Given the description of an element on the screen output the (x, y) to click on. 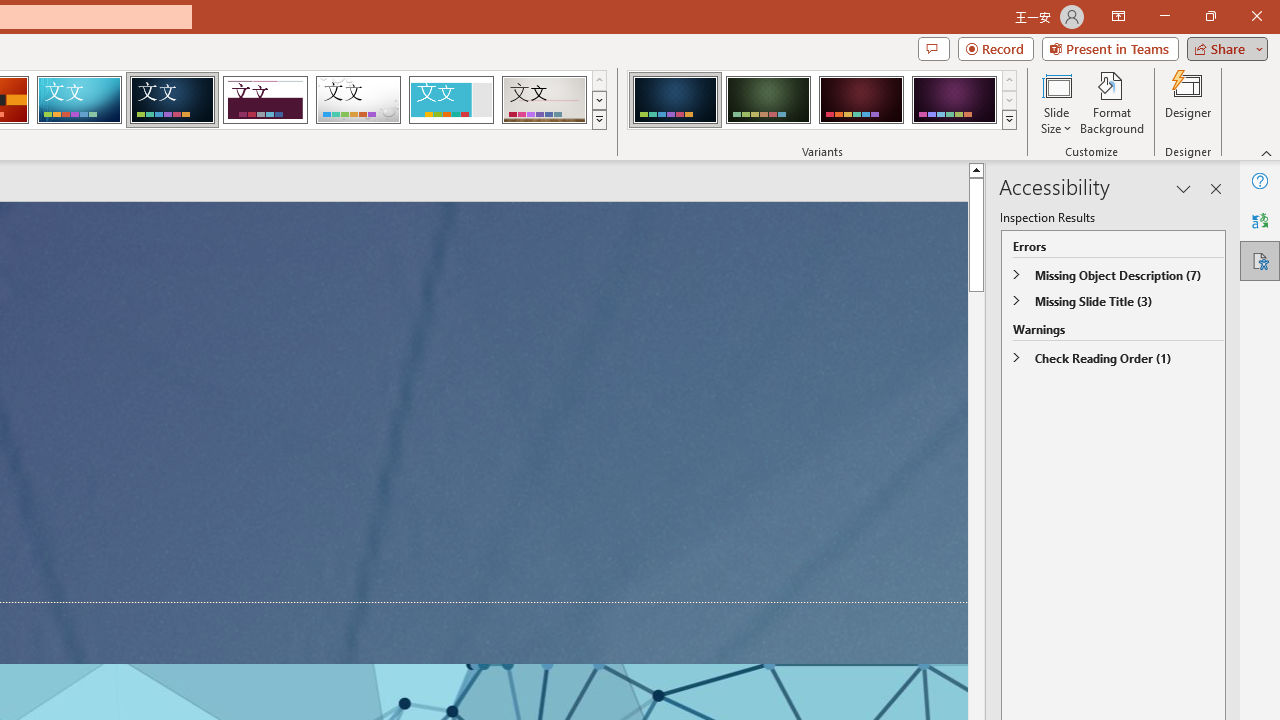
Damask Variant 3 (861, 100)
Gallery (544, 100)
Damask Variant 2 (768, 100)
